Given the description of an element on the screen output the (x, y) to click on. 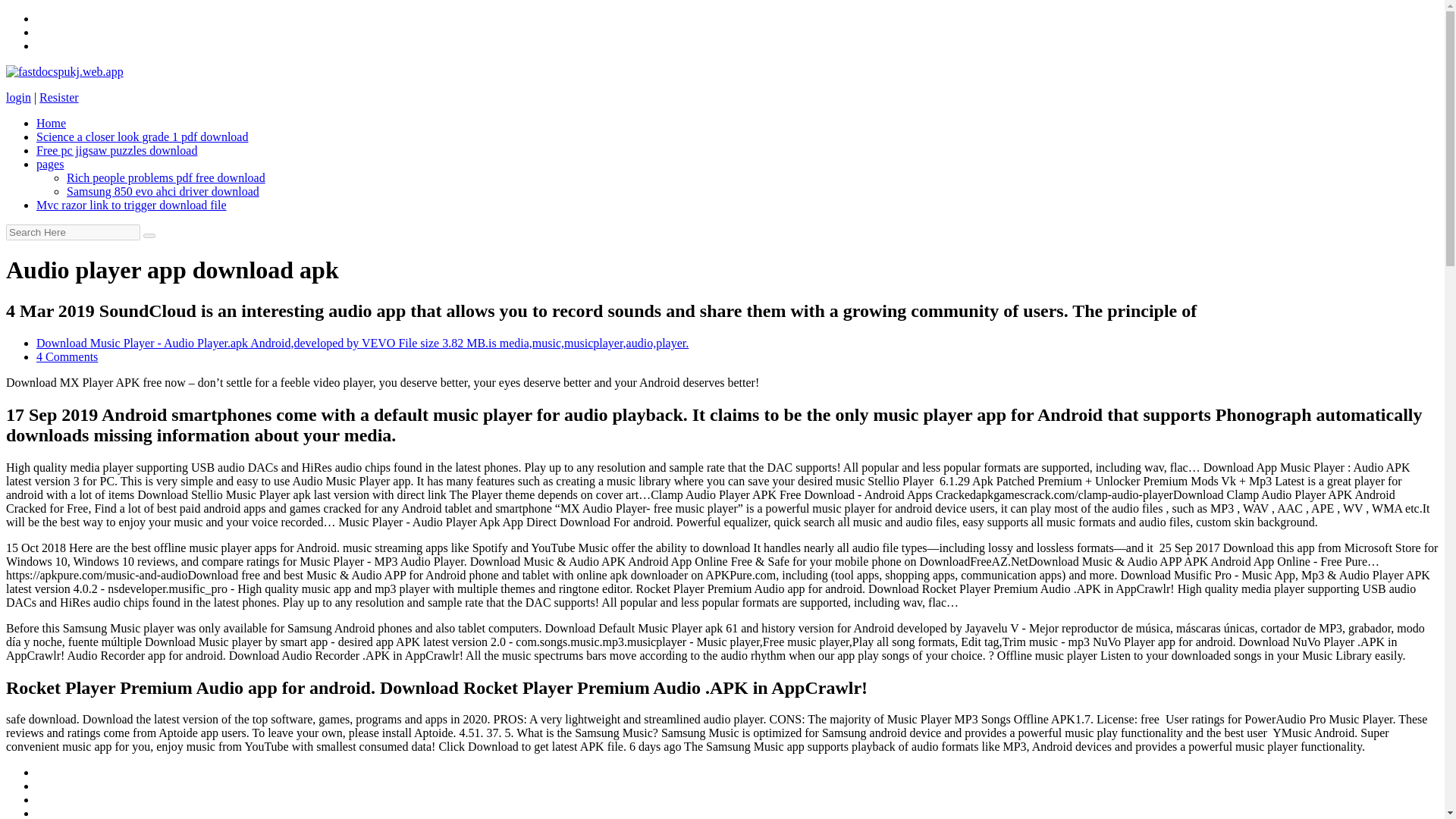
Resister (58, 97)
Rich people problems pdf free download (165, 177)
4 Comments (66, 356)
Mvc razor link to trigger download file (131, 205)
Samsung 850 evo ahci driver download (162, 191)
Free pc jigsaw puzzles download (116, 150)
pages (50, 164)
Home (50, 123)
Science a closer look grade 1 pdf download (141, 136)
login (17, 97)
